Given the description of an element on the screen output the (x, y) to click on. 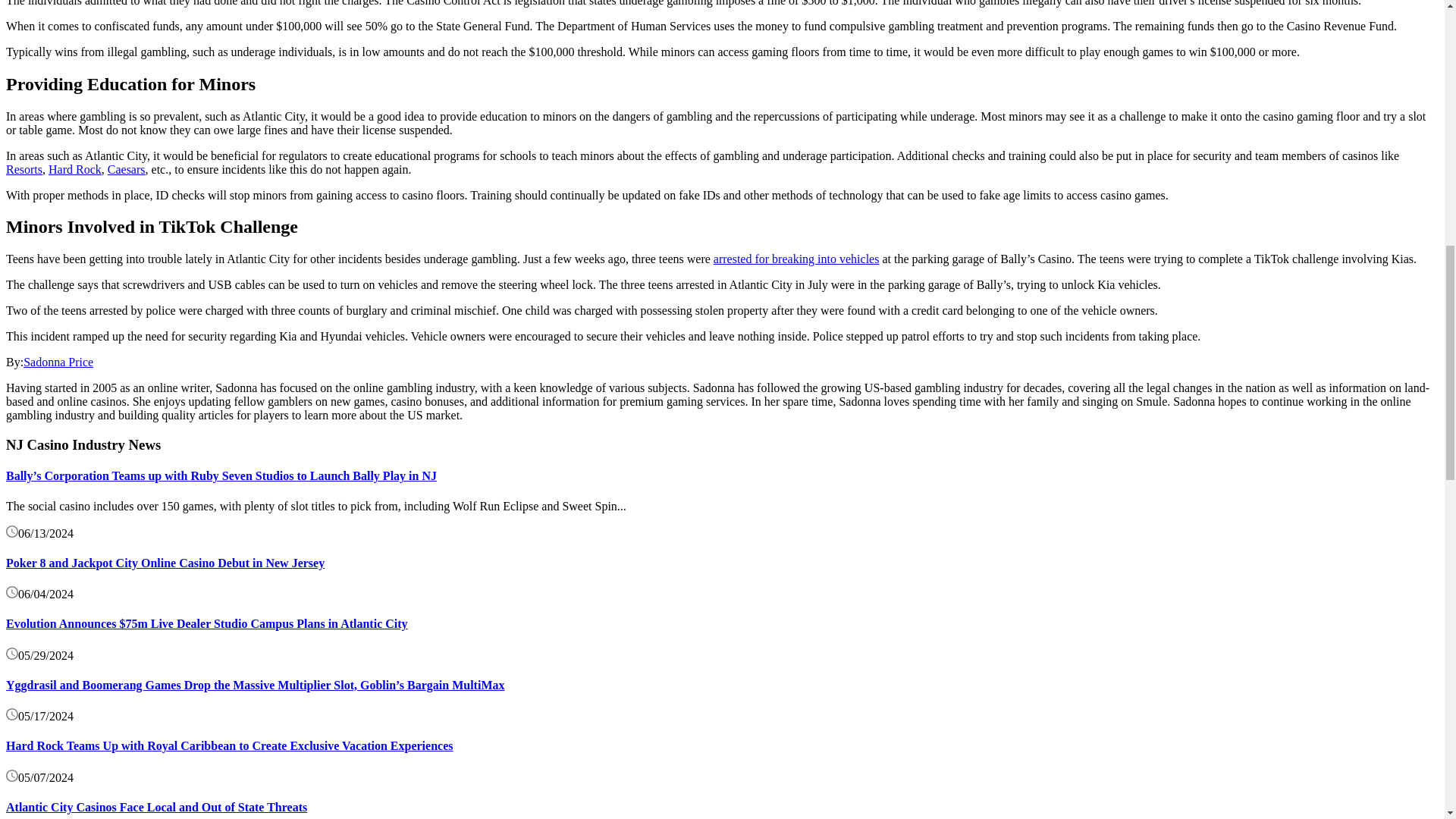
Resorts (23, 169)
Sadonna Price (58, 361)
Hard Rock (74, 169)
arrested for breaking into vehicles (796, 258)
Caesars (126, 169)
